Given the description of an element on the screen output the (x, y) to click on. 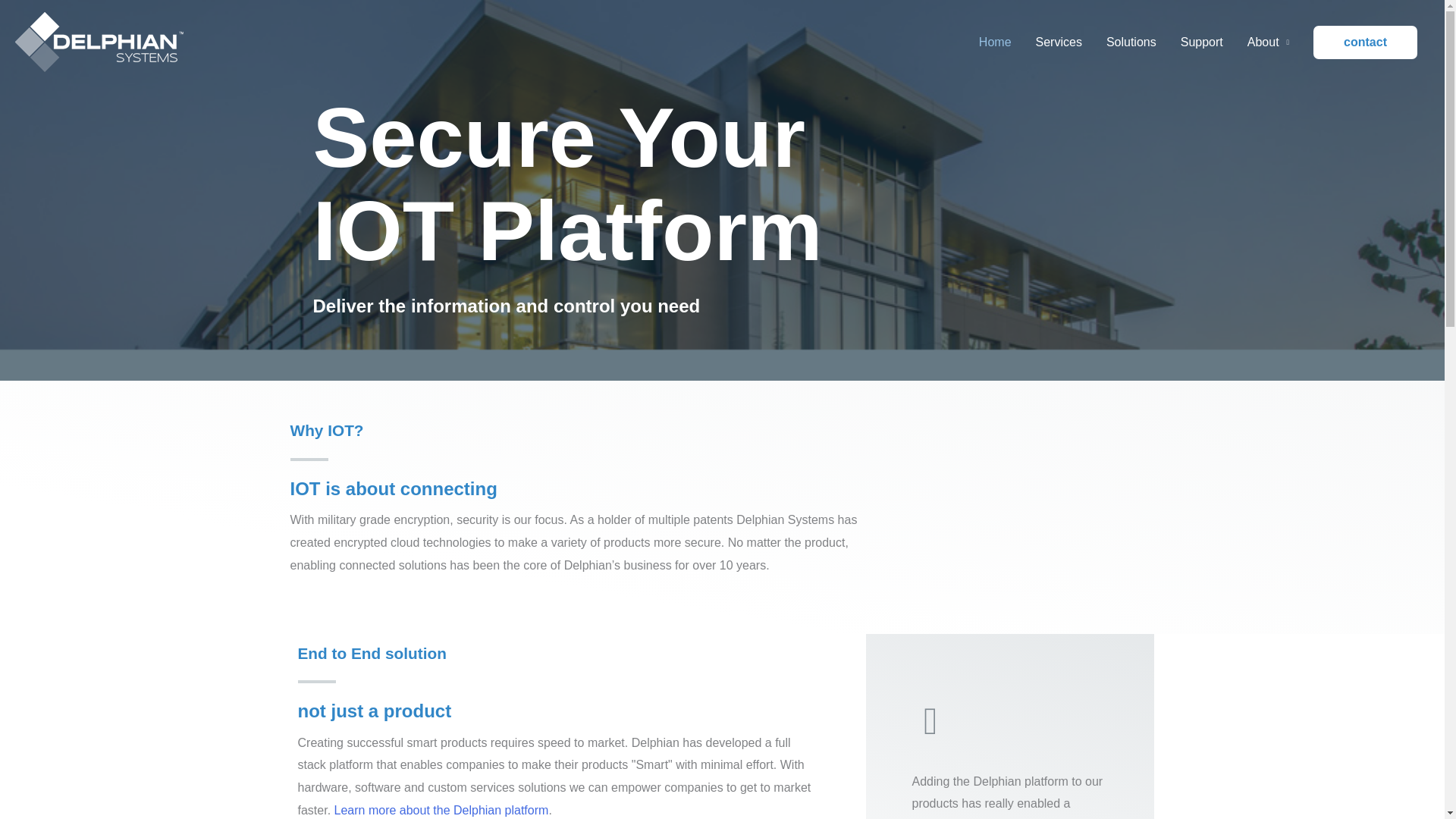
Support (1201, 42)
Learn more about the Delphian platform (441, 809)
About (1267, 42)
Home (994, 42)
Services (1058, 42)
Solutions (1131, 42)
contact (1364, 41)
